Given the description of an element on the screen output the (x, y) to click on. 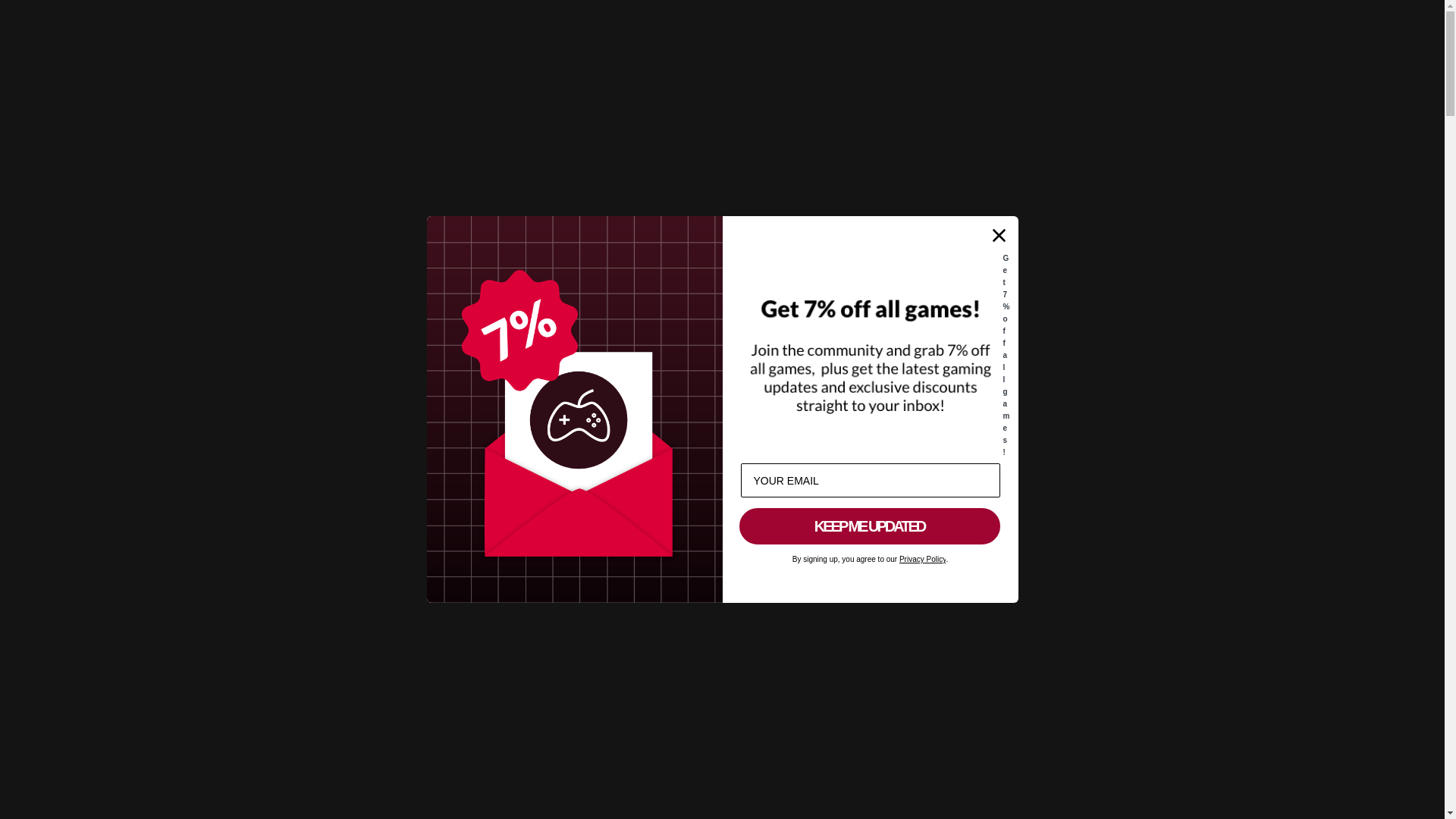
Reviews (1135, 52)
FragHero (37, 52)
View all posts by Joshua Boyles (476, 729)
Shop (750, 52)
Close dialog 3 (998, 234)
Latest News (848, 52)
more (1347, 52)
Features (1041, 52)
Guides (952, 52)
